Given the description of an element on the screen output the (x, y) to click on. 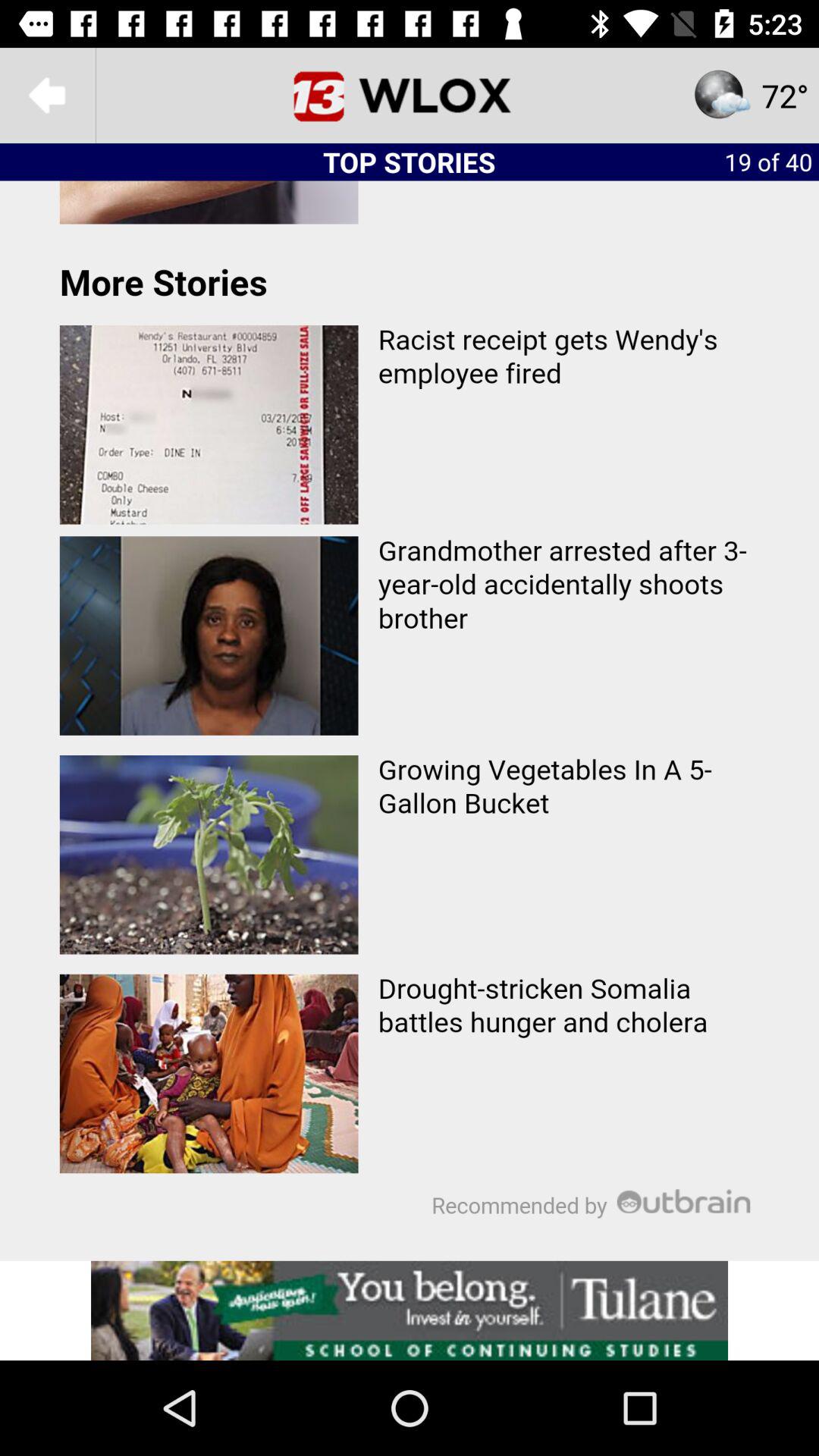
list of stories (409, 720)
